Given the description of an element on the screen output the (x, y) to click on. 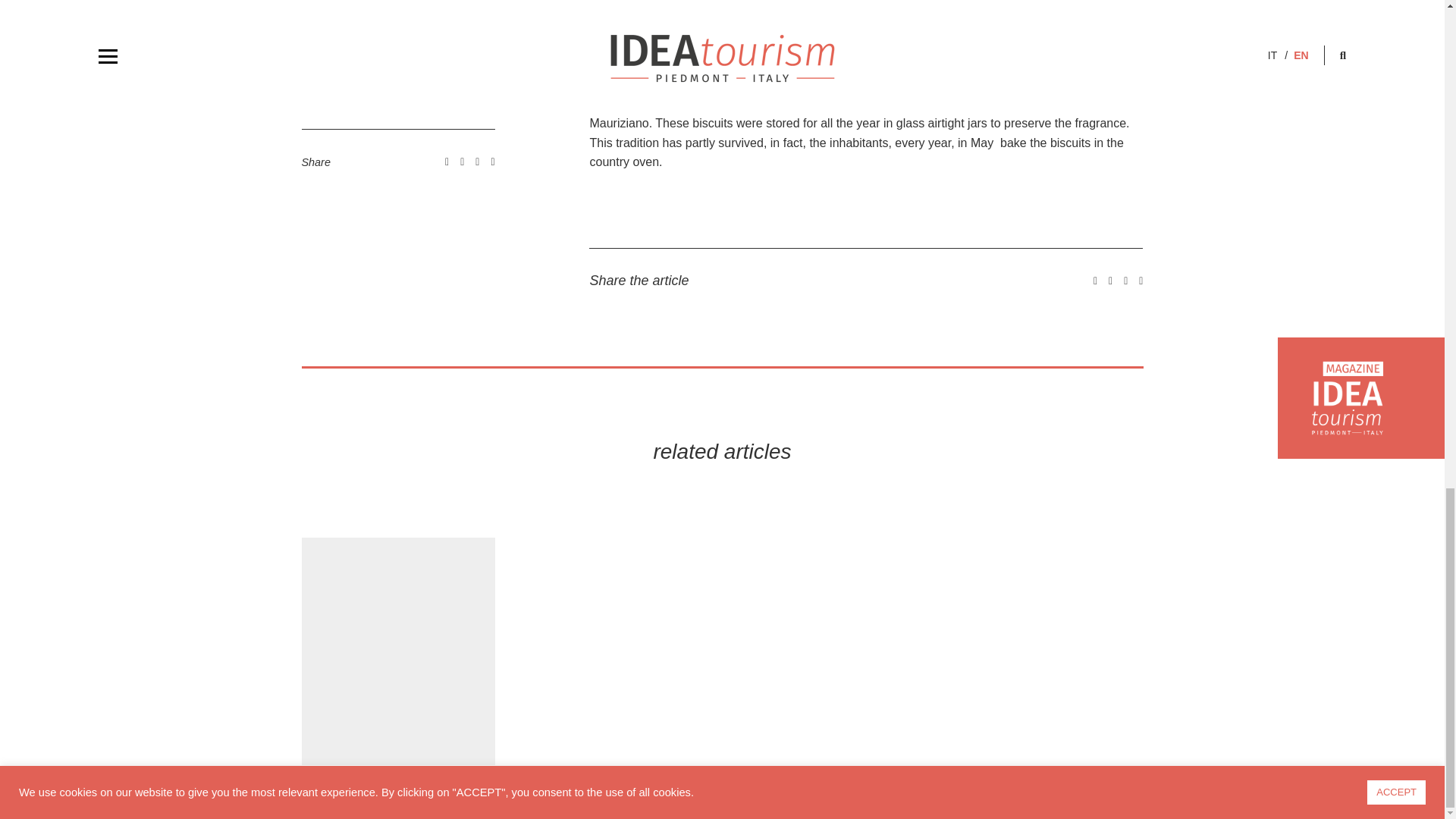
Places (317, 797)
Pinterest Share (1140, 281)
Twitter share (1110, 281)
Google Plus Share (1125, 281)
Facebook share (1095, 281)
